Given the description of an element on the screen output the (x, y) to click on. 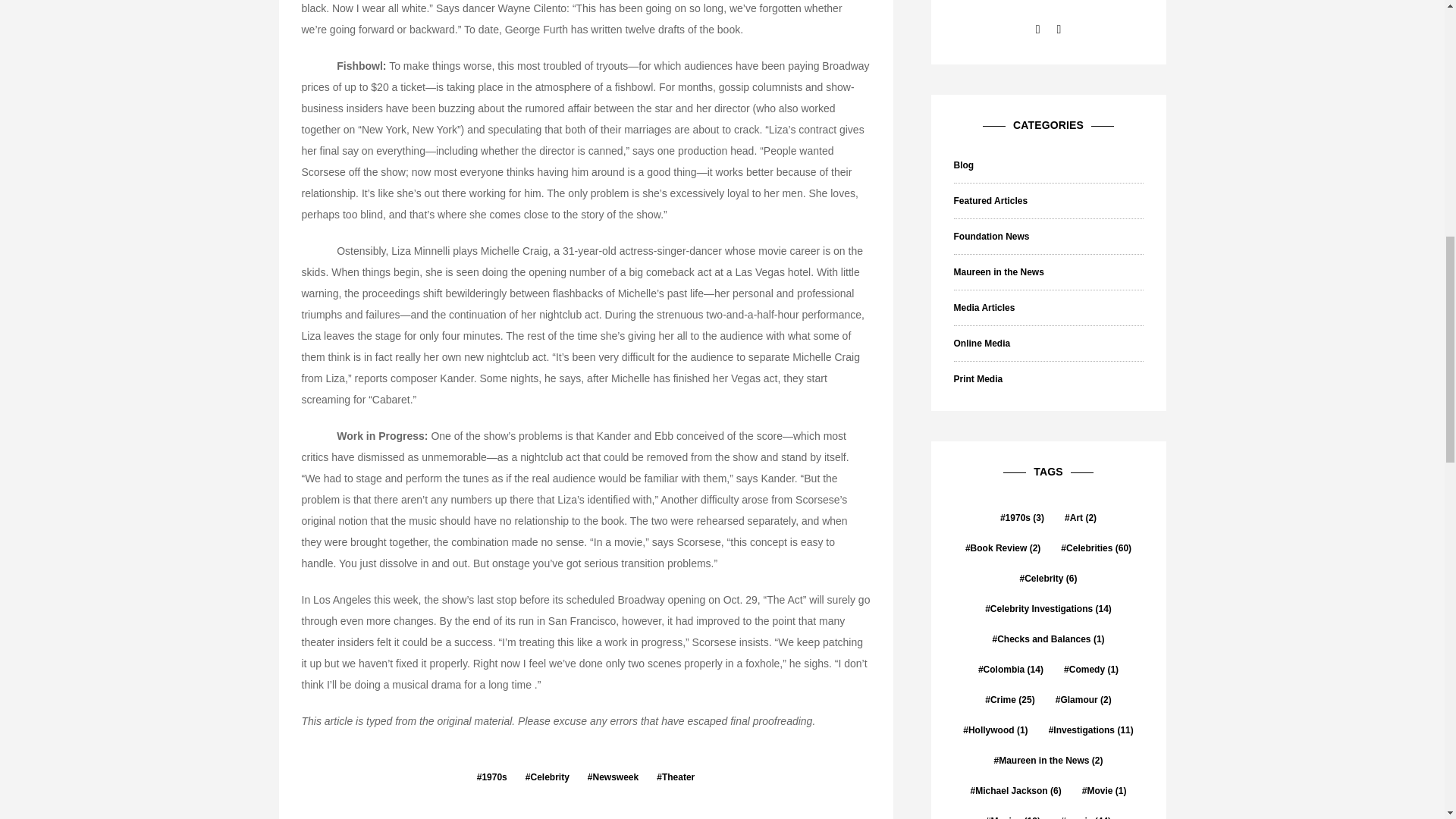
Theater (675, 776)
Newsweek (612, 776)
1970s (491, 776)
Celebrity (547, 776)
